Given the description of an element on the screen output the (x, y) to click on. 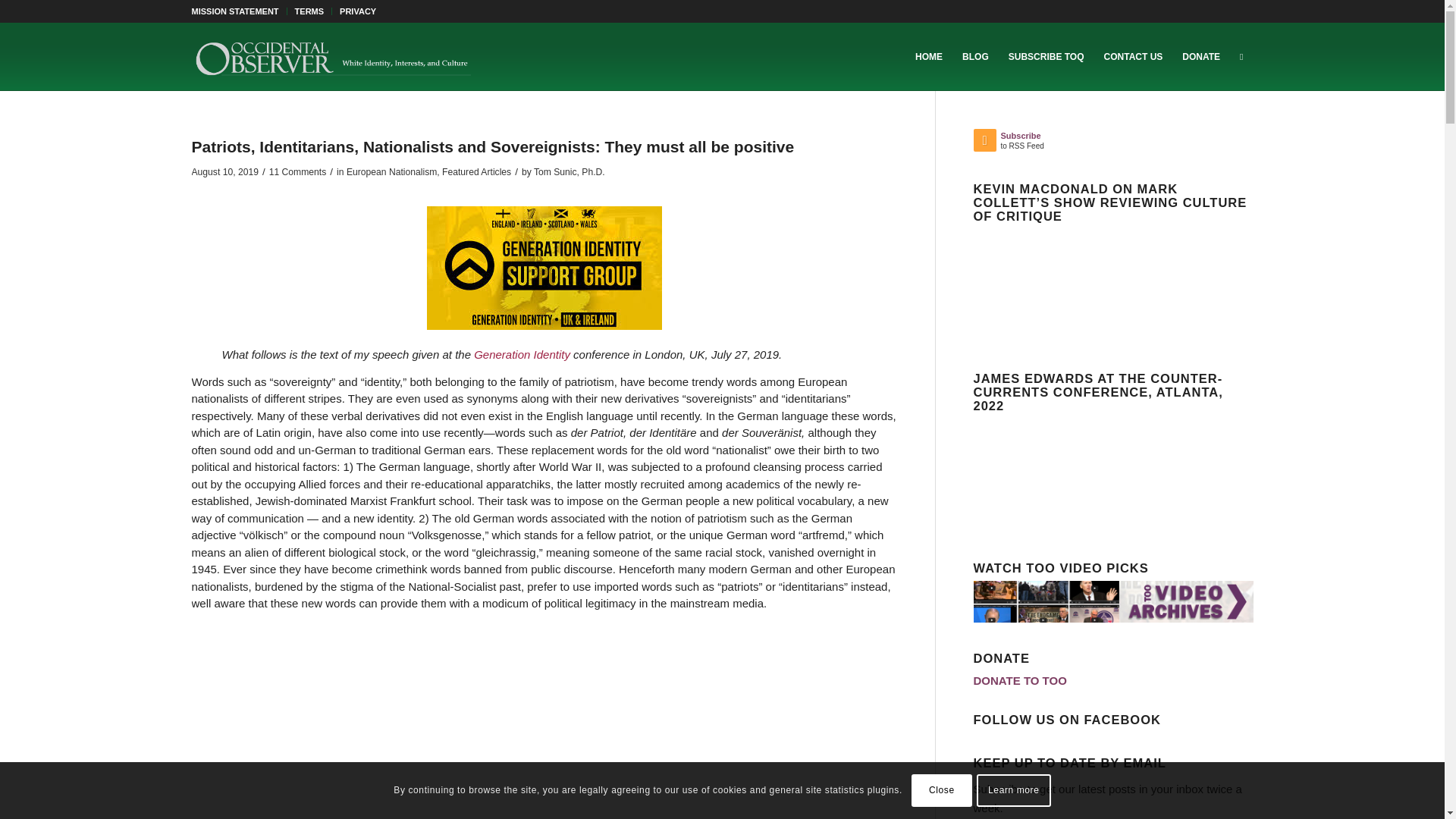
SUBSCRIBE TOQ (1046, 56)
MISSION STATEMENT (234, 11)
European Nationalism (391, 172)
CONTACT US (1133, 56)
Featured Articles (476, 172)
PRIVACY (357, 11)
Contact Us (1133, 56)
Tom Sunic, Ph.D. (569, 172)
11 Comments (297, 172)
Generation Identity (522, 354)
TERMS (309, 11)
Posts by Tom Sunic, Ph.D. (569, 172)
